Given the description of an element on the screen output the (x, y) to click on. 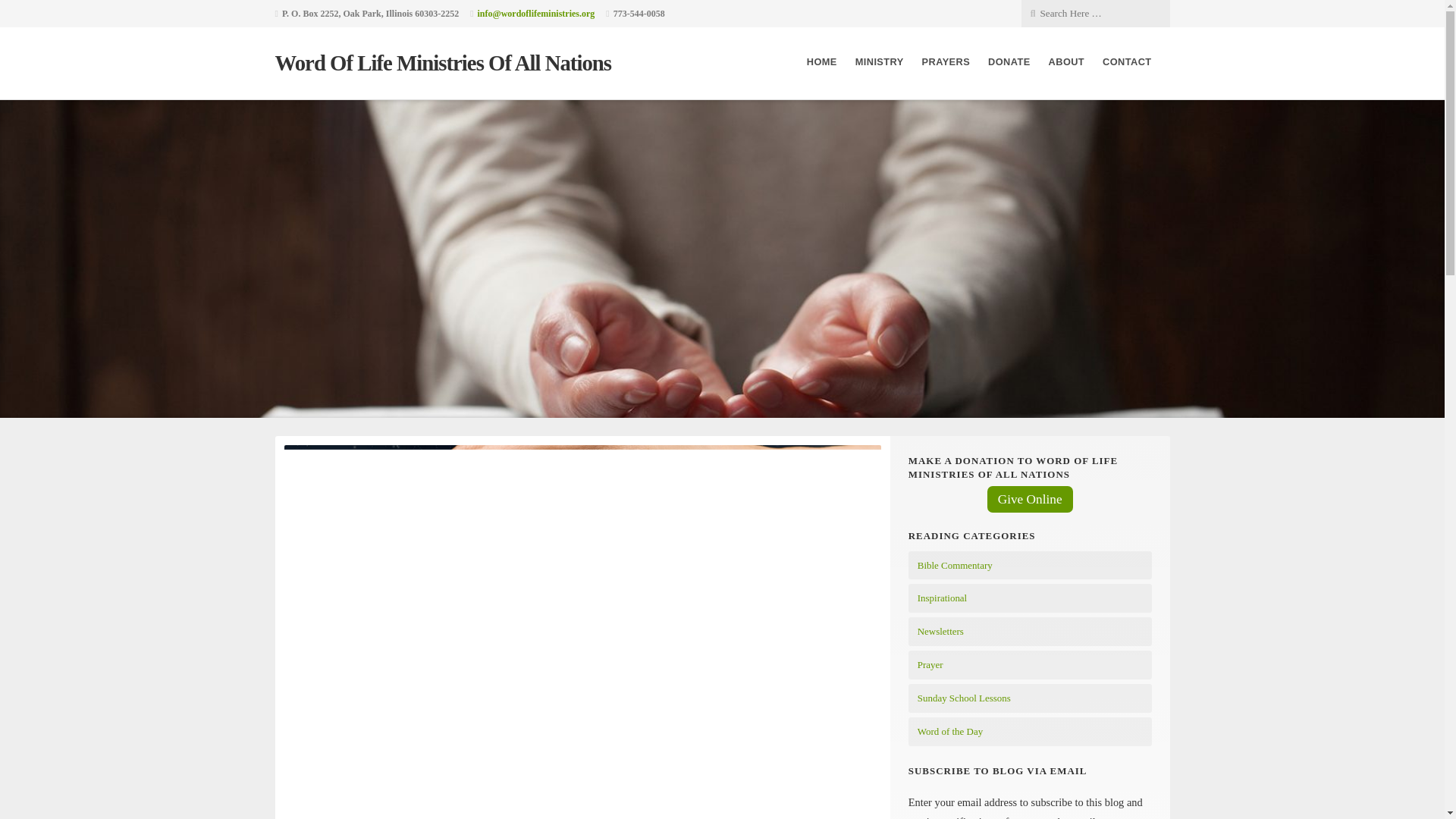
Word of the Day (949, 731)
CONTACT (1126, 62)
Prayer (930, 664)
Newsletters (940, 631)
HOME (821, 62)
DONATE (1008, 62)
Go (116, 12)
MINISTRY (880, 62)
Inspirational (941, 597)
Give Online (1030, 499)
